Given the description of an element on the screen output the (x, y) to click on. 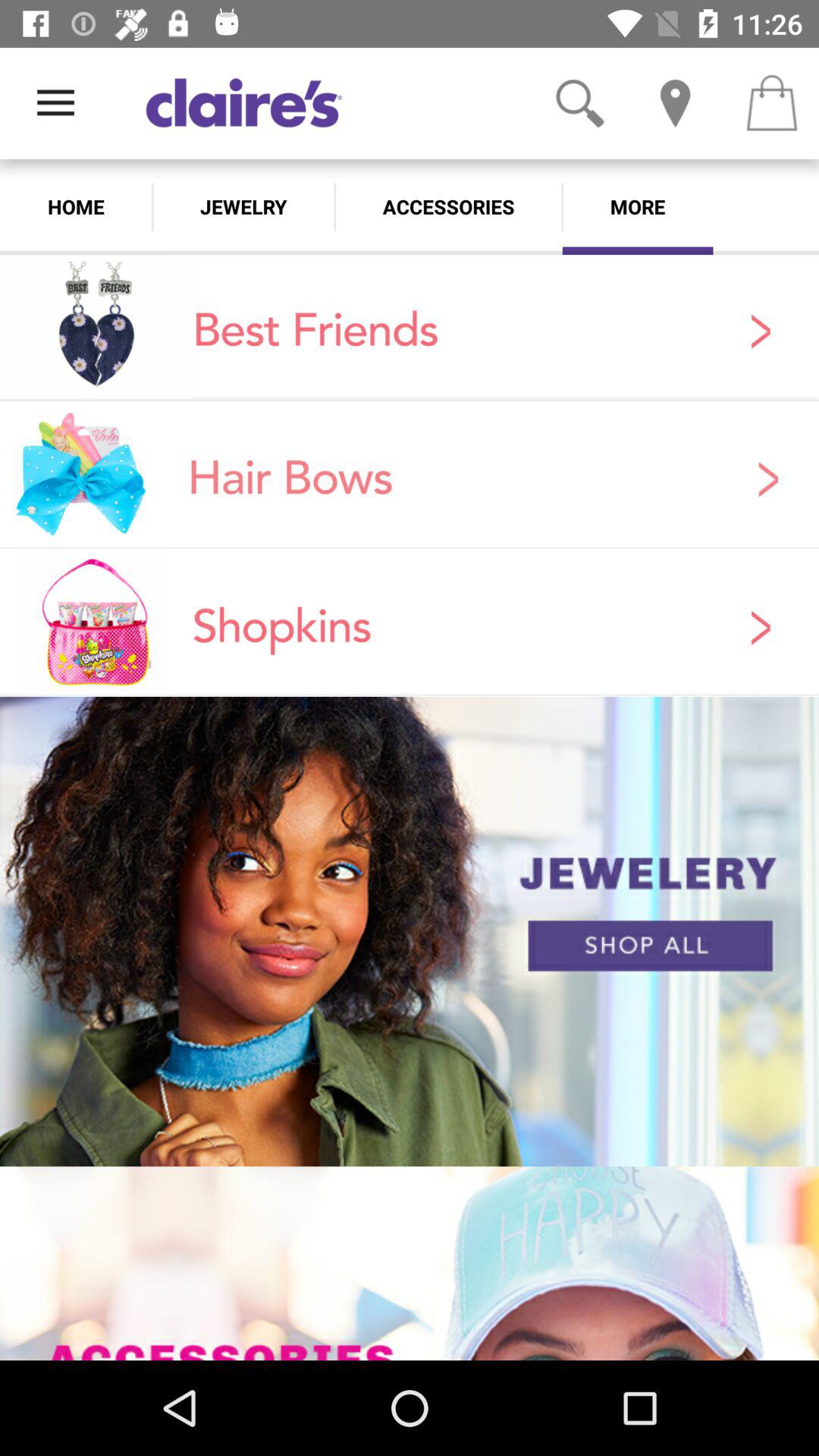
look at shopping cart (771, 103)
